Given the description of an element on the screen output the (x, y) to click on. 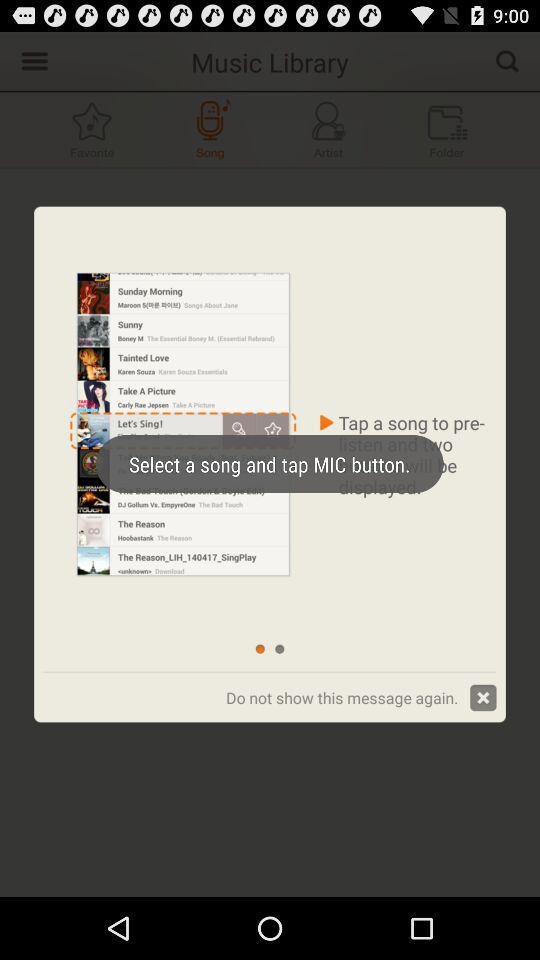
favorites (92, 129)
